Given the description of an element on the screen output the (x, y) to click on. 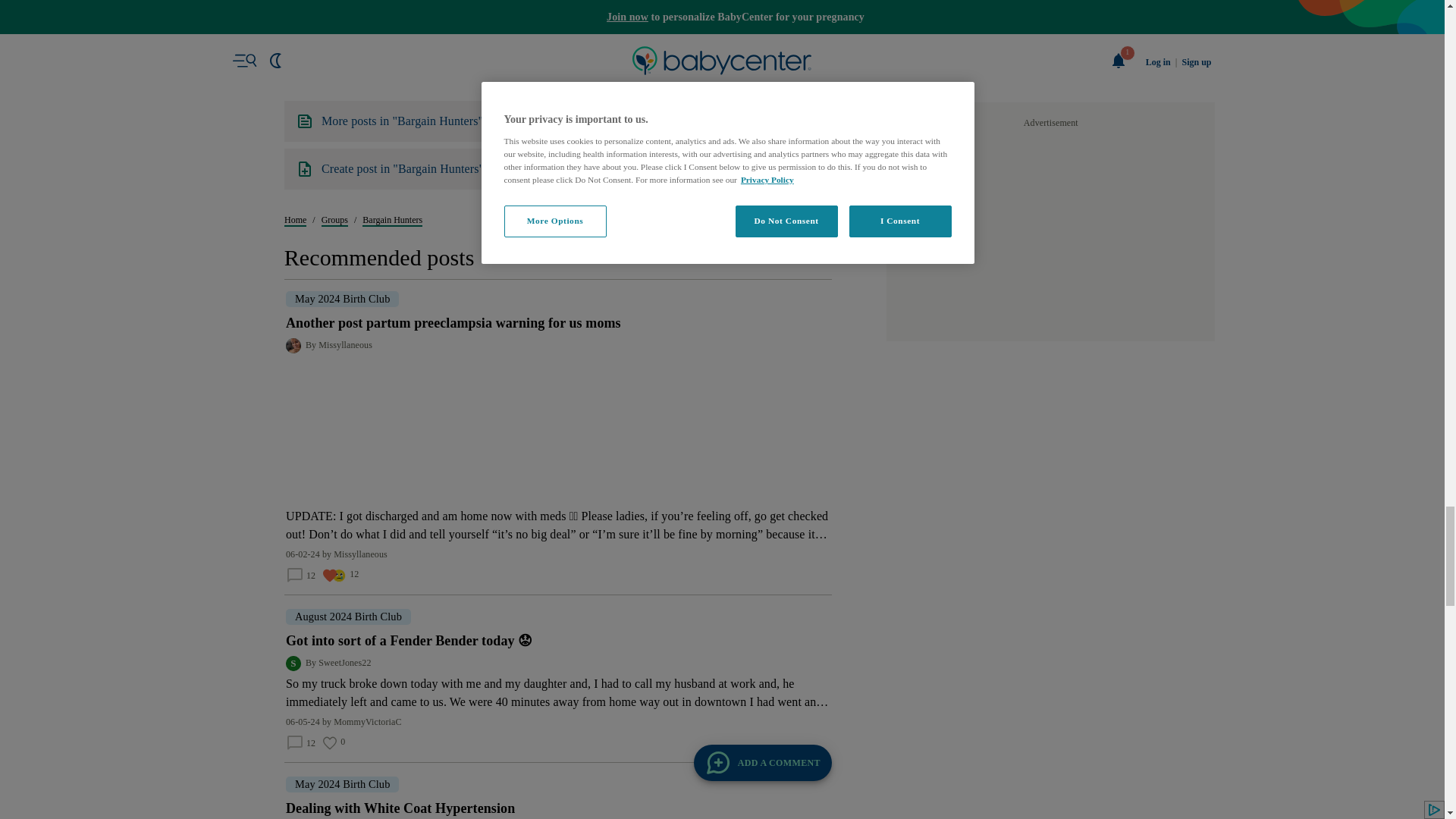
Go to page number (541, 612)
1 (541, 612)
